Given the description of an element on the screen output the (x, y) to click on. 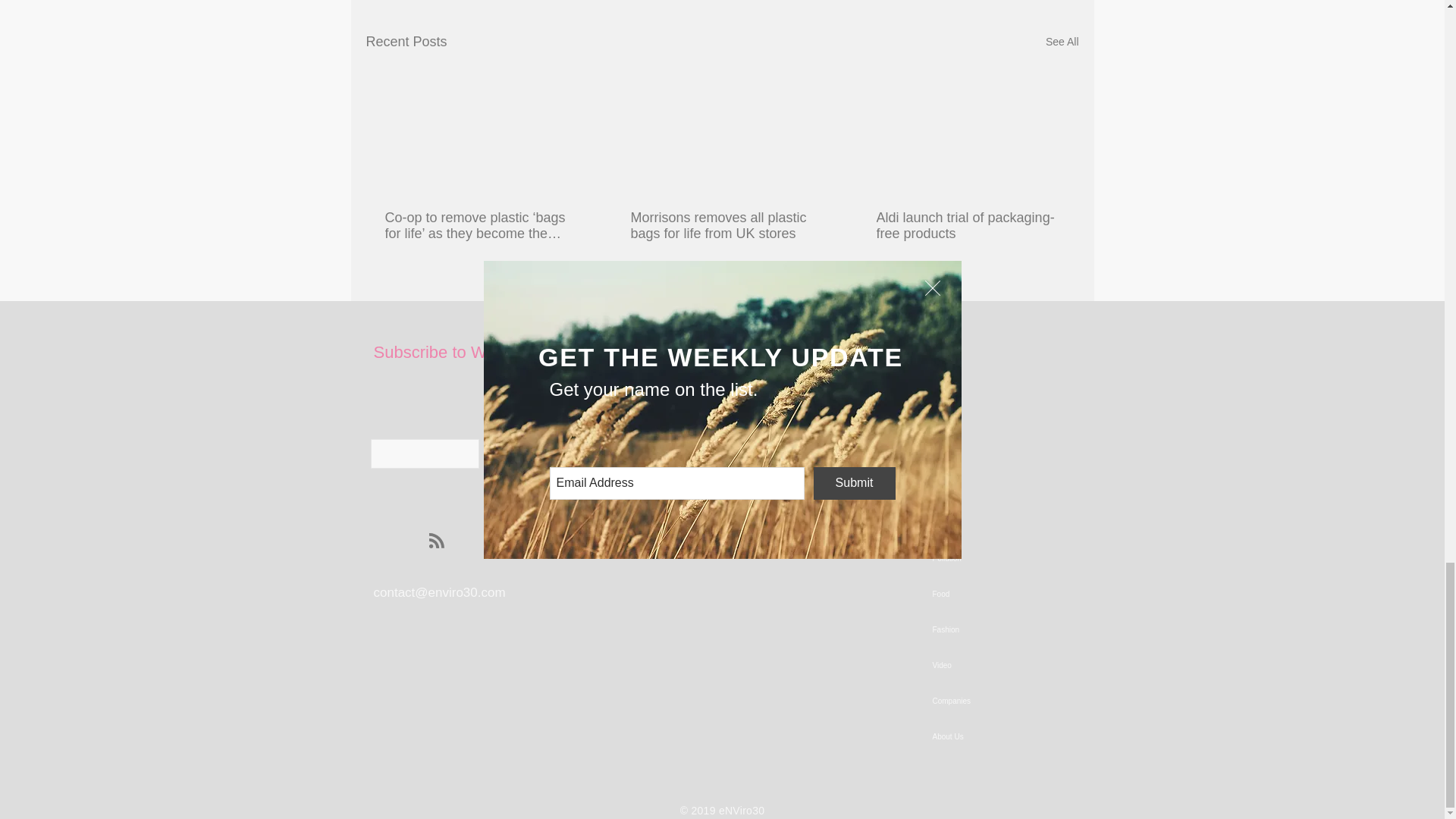
Morrisons removes all plastic bags for life from UK stores (721, 225)
Subscribe Now (672, 453)
See All (1061, 42)
Aldi launch trial of packaging-free products (967, 225)
Subscribe to Weekly News (471, 352)
